Given the description of an element on the screen output the (x, y) to click on. 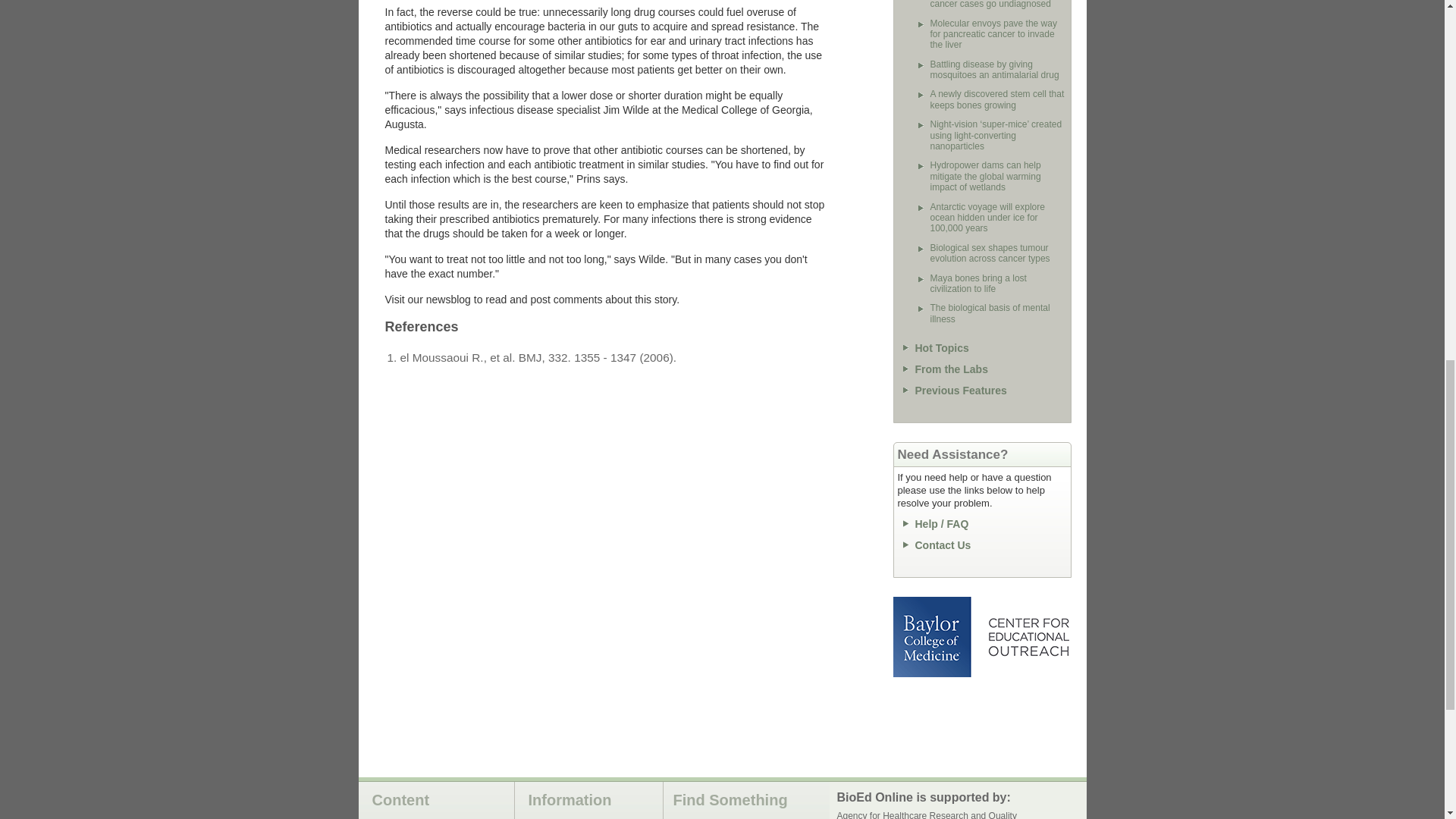
Baylor College of Medicine (933, 637)
Center for Educational Outreach - Baylor College of Medicine (1027, 637)
